Given the description of an element on the screen output the (x, y) to click on. 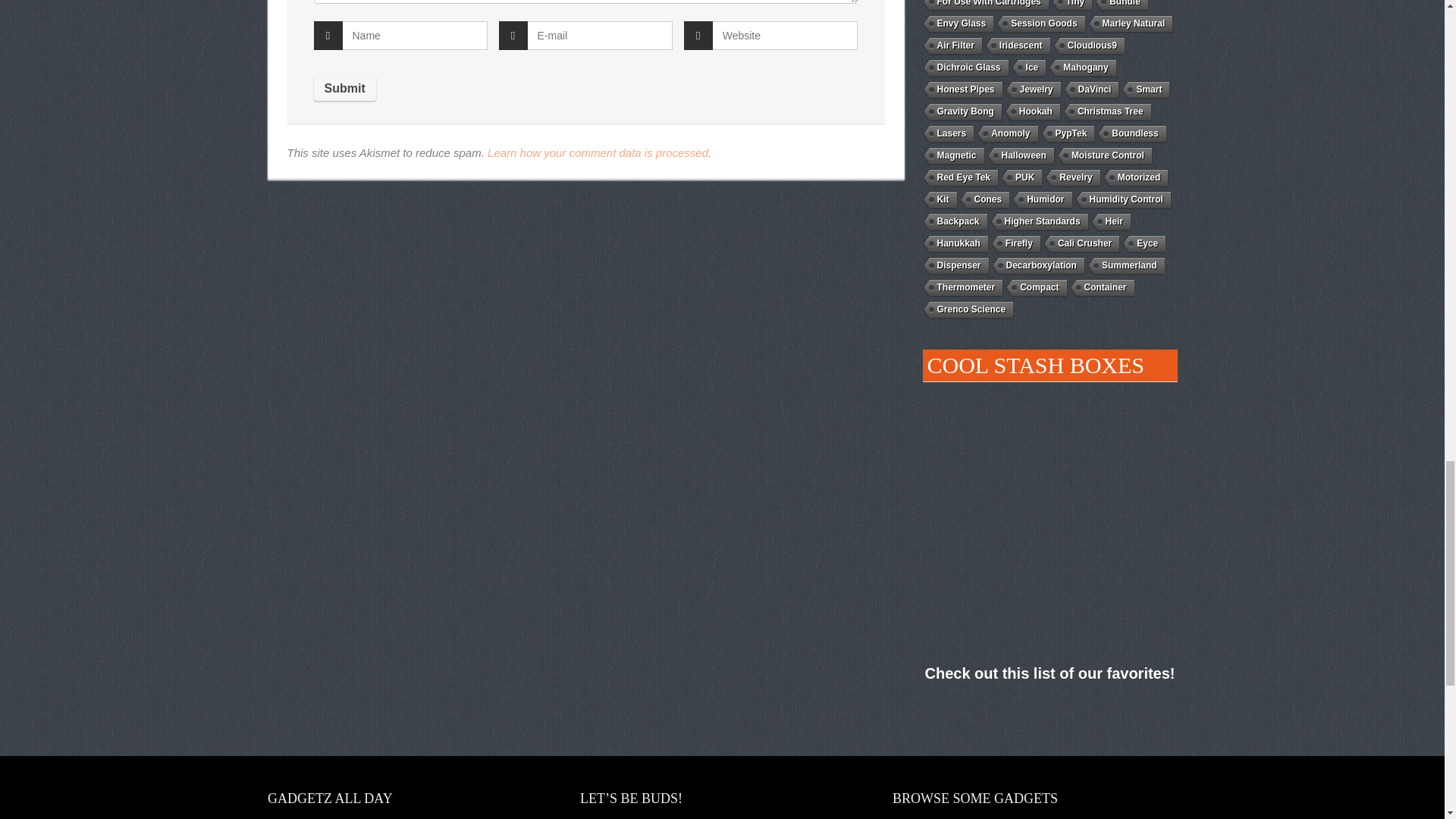
Submit (344, 88)
